Given the description of an element on the screen output the (x, y) to click on. 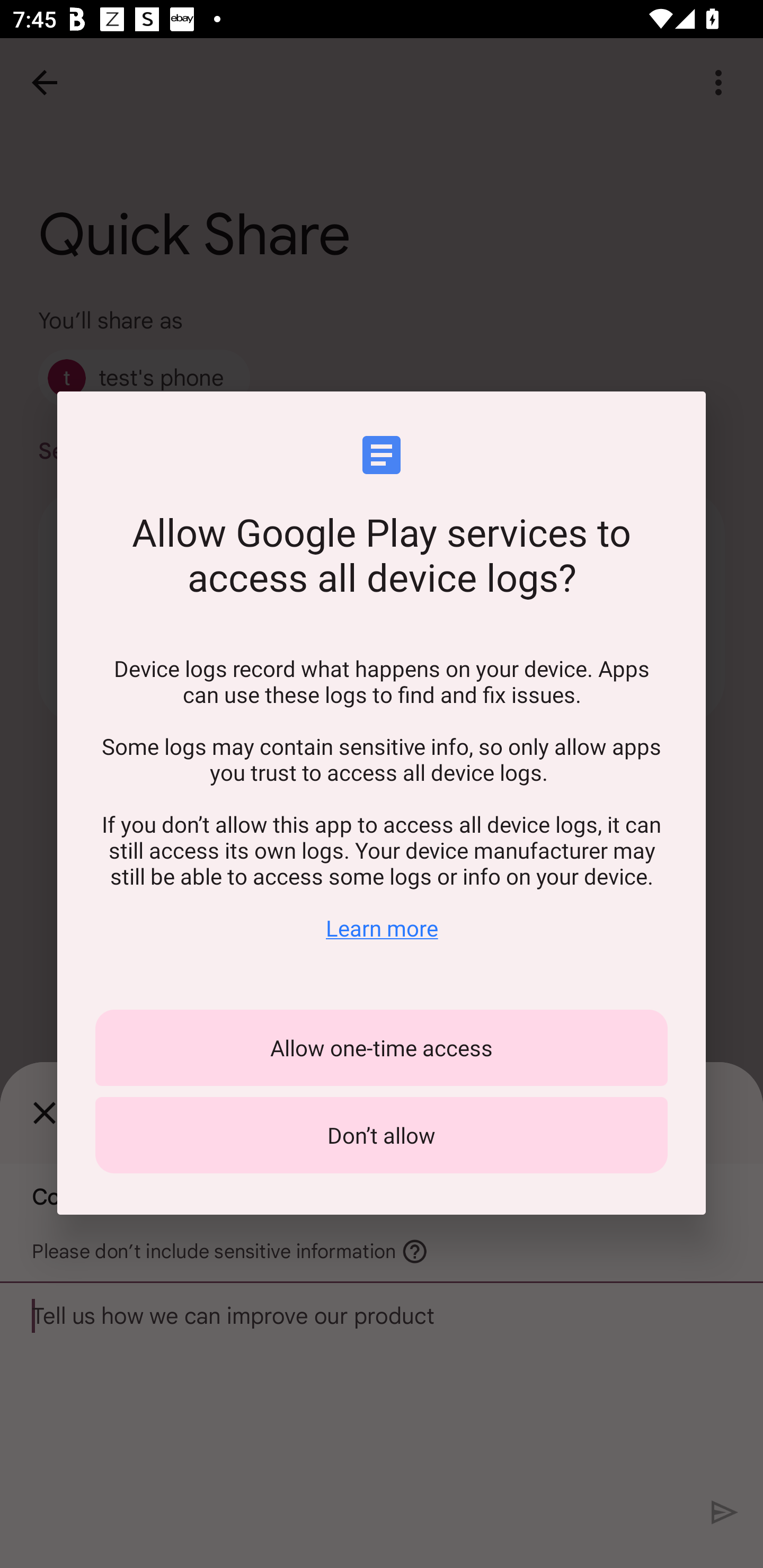
Allow one-time access (381, 1047)
Don’t allow (381, 1134)
